Given the description of an element on the screen output the (x, y) to click on. 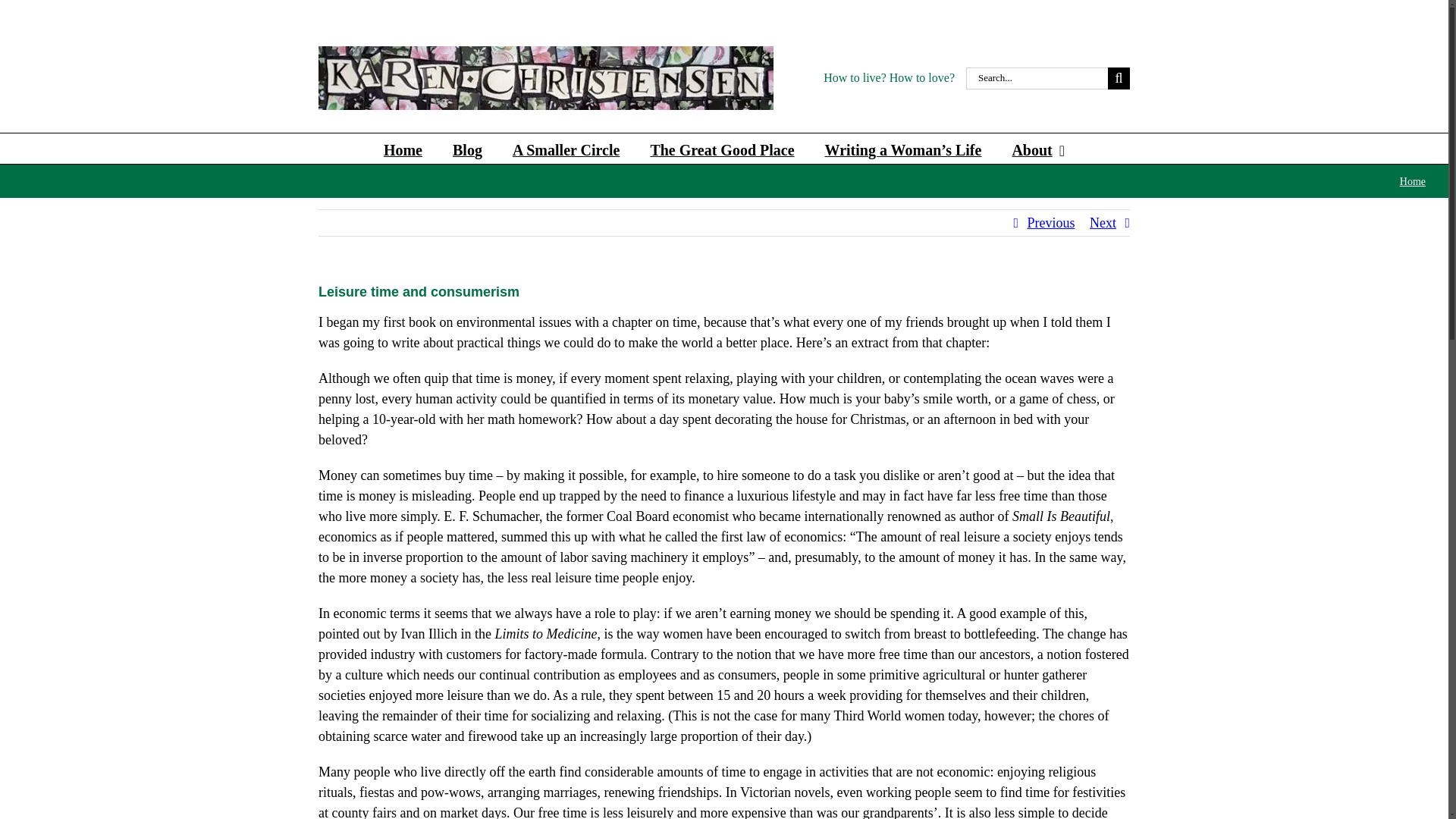
Previous (1050, 222)
The Great Good Place (721, 148)
Home (403, 148)
Home (1412, 181)
About (1037, 148)
Blog (466, 148)
A Smaller Circle (566, 148)
Next (1102, 222)
